Given the description of an element on the screen output the (x, y) to click on. 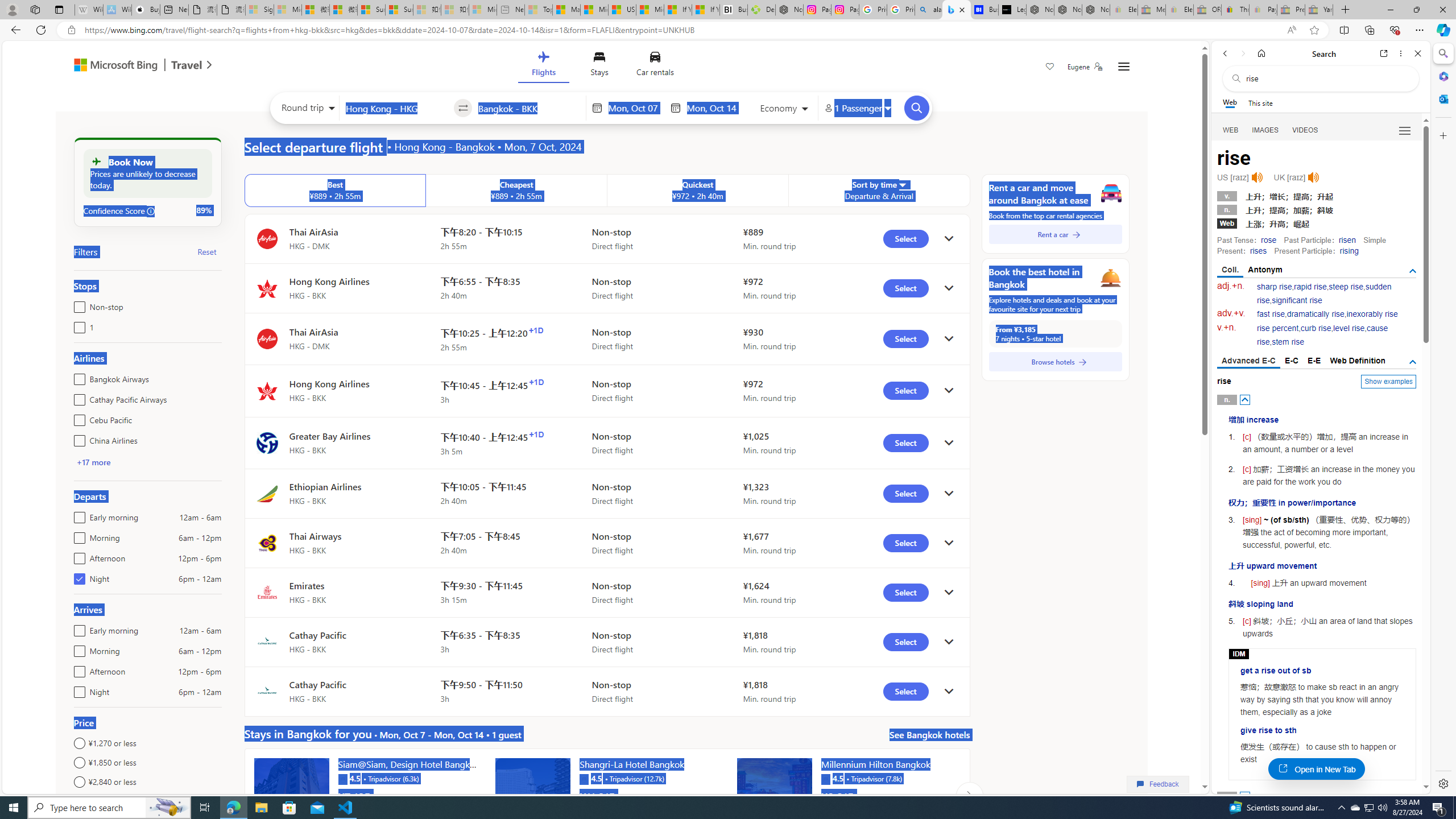
rising (1348, 250)
Early morning12am - 6am (76, 628)
fast rise (1270, 313)
+17 more (92, 461)
cause rise (1322, 335)
